Given the description of an element on the screen output the (x, y) to click on. 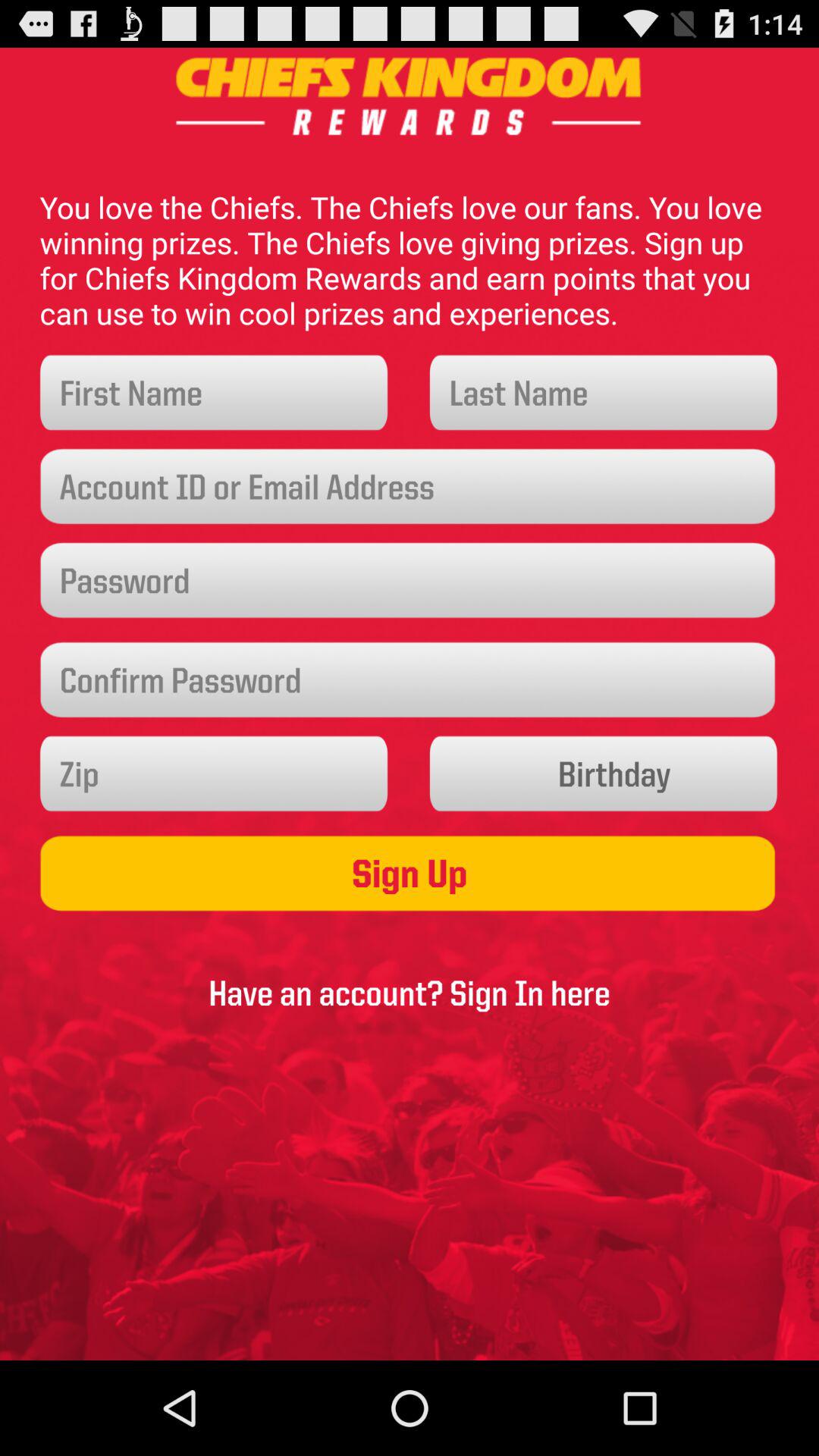
enter a zip code (214, 773)
